Given the description of an element on the screen output the (x, y) to click on. 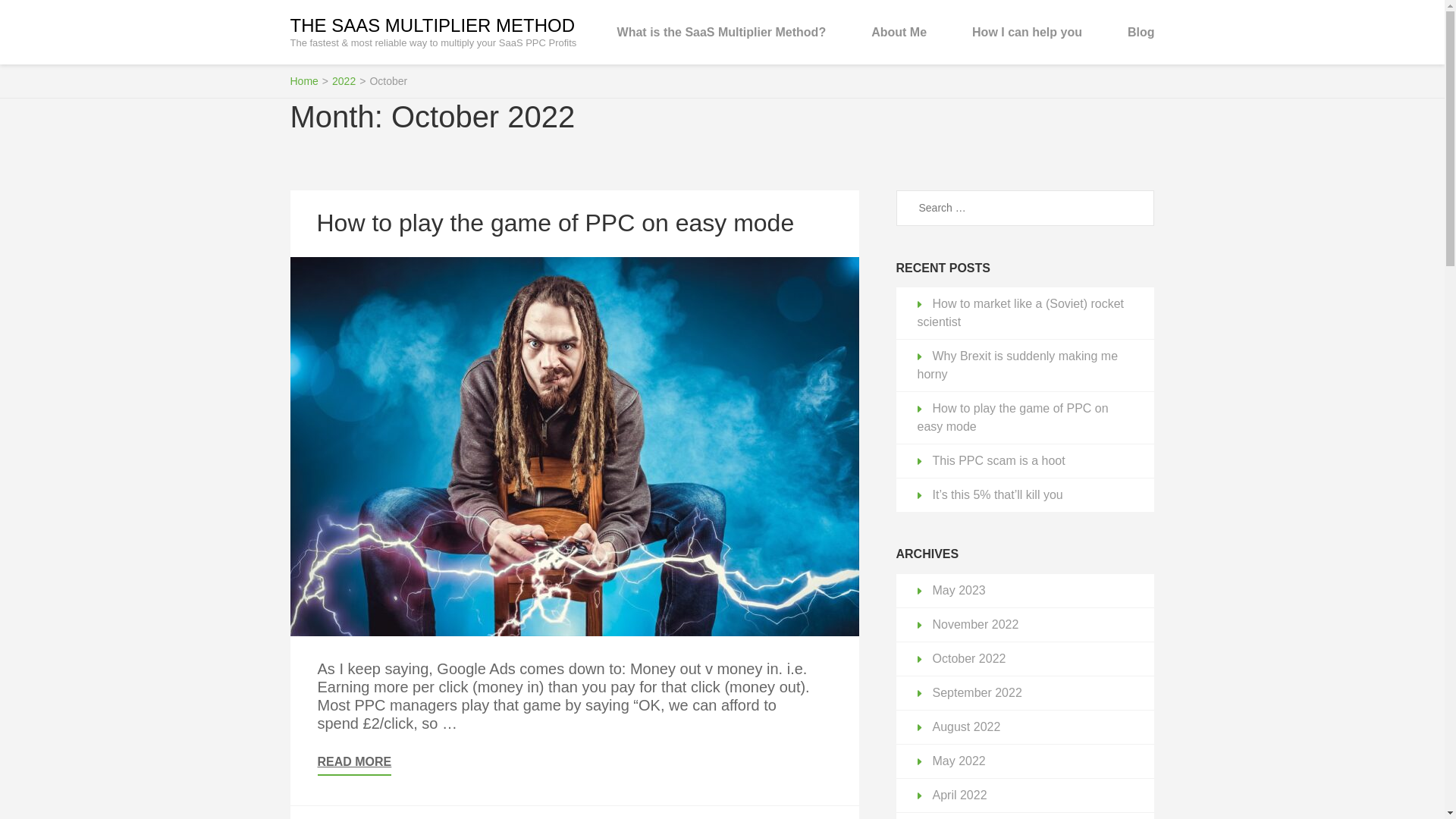
About Me (898, 31)
May 2022 (959, 760)
This PPC scam is a hoot (999, 460)
2022 (343, 80)
Blog (1140, 31)
April 2022 (960, 794)
What is the SaaS Multiplier Method? (722, 31)
September 2022 (977, 692)
How to play the game of PPC on easy mode (555, 222)
Search (1136, 208)
